Given the description of an element on the screen output the (x, y) to click on. 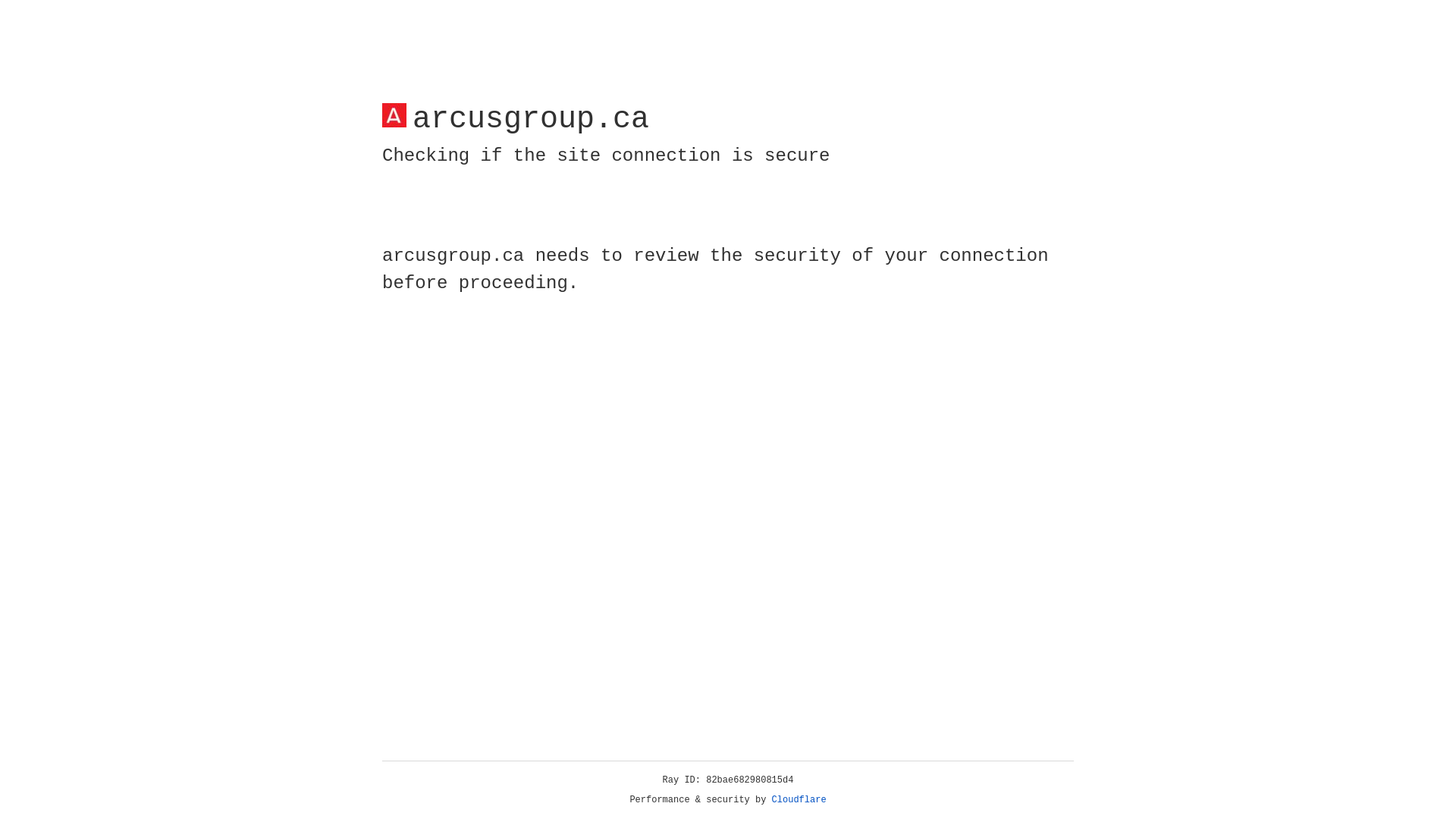
Cloudflare Element type: text (798, 799)
